Given the description of an element on the screen output the (x, y) to click on. 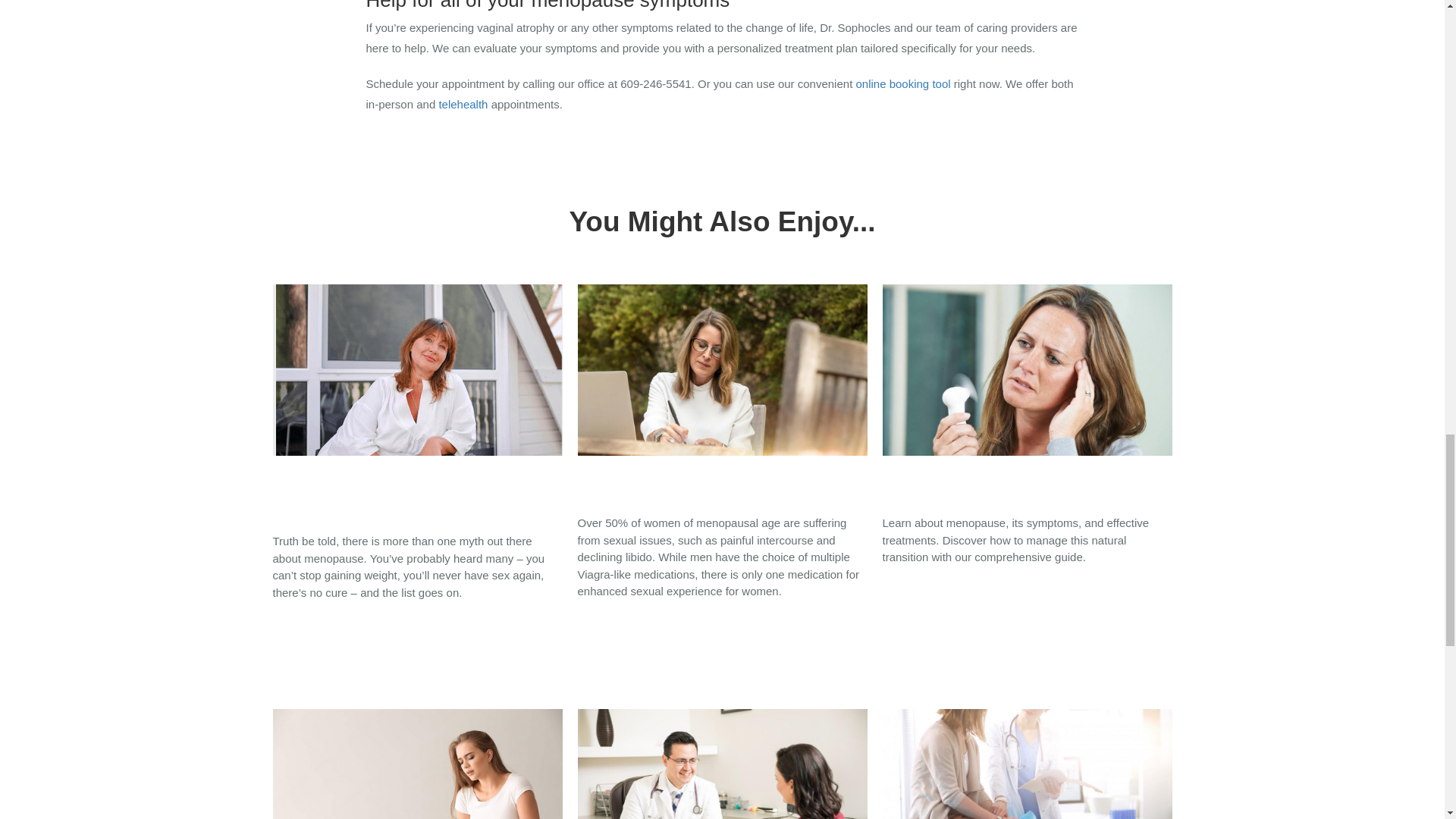
telehealth (462, 103)
The Bedroom Gap and Why it Matters for Women's Health (722, 399)
online booking tool (903, 83)
